Given the description of an element on the screen output the (x, y) to click on. 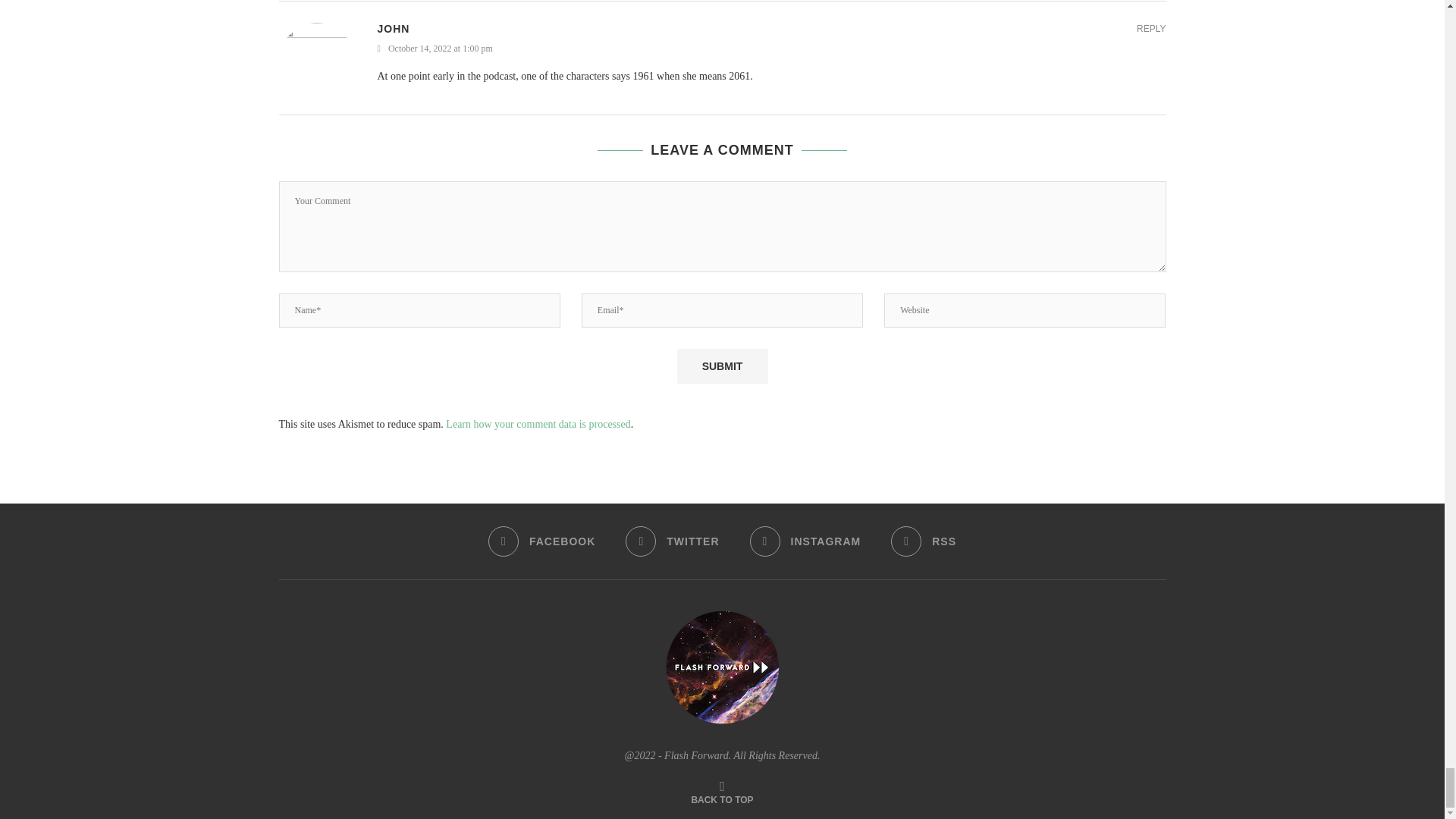
Submit (722, 366)
